Given the description of an element on the screen output the (x, y) to click on. 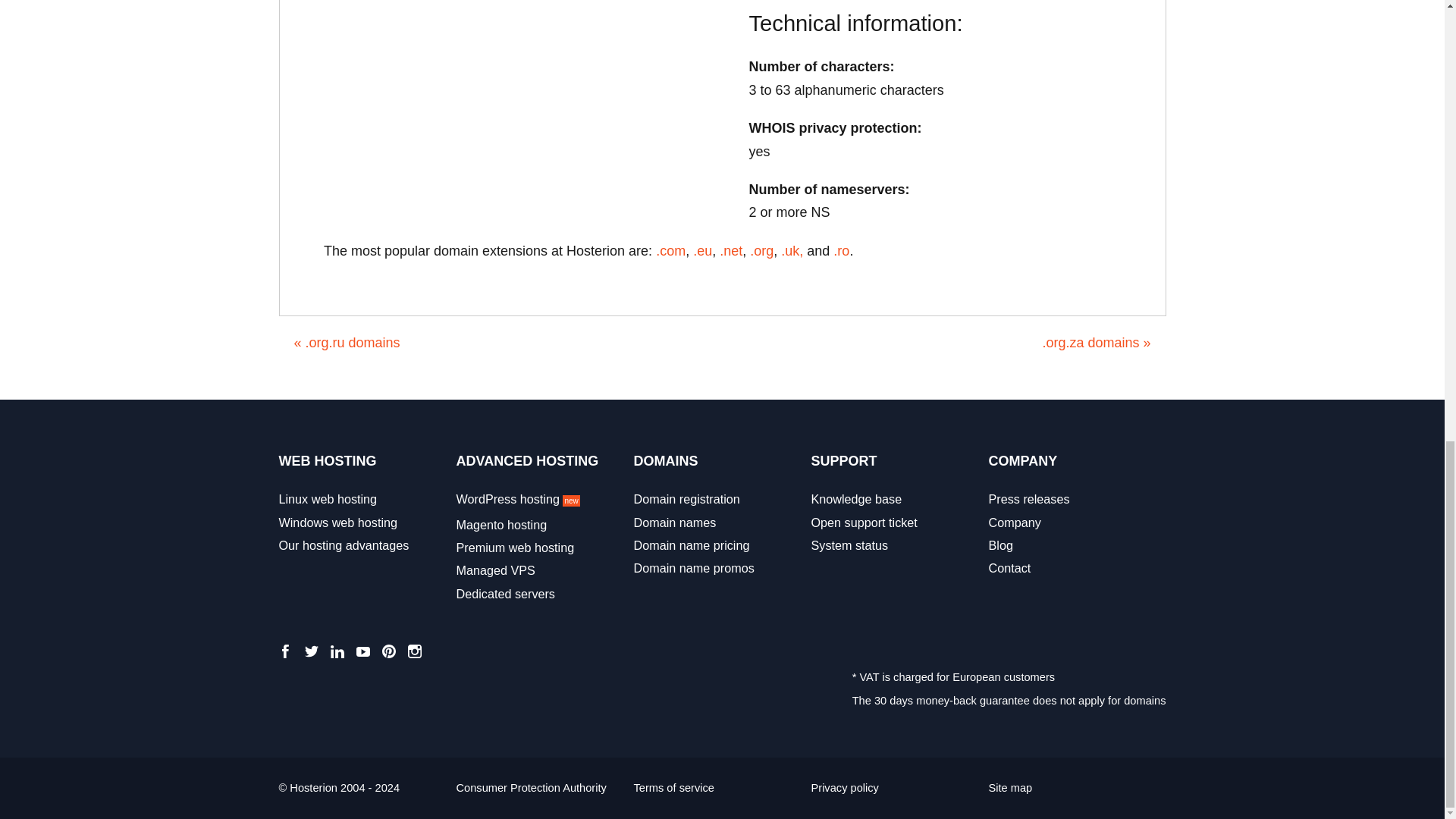
.net (730, 250)
.org (761, 250)
.ro (840, 250)
.eu (702, 250)
.com (670, 250)
.uk, (791, 250)
